Given the description of an element on the screen output the (x, y) to click on. 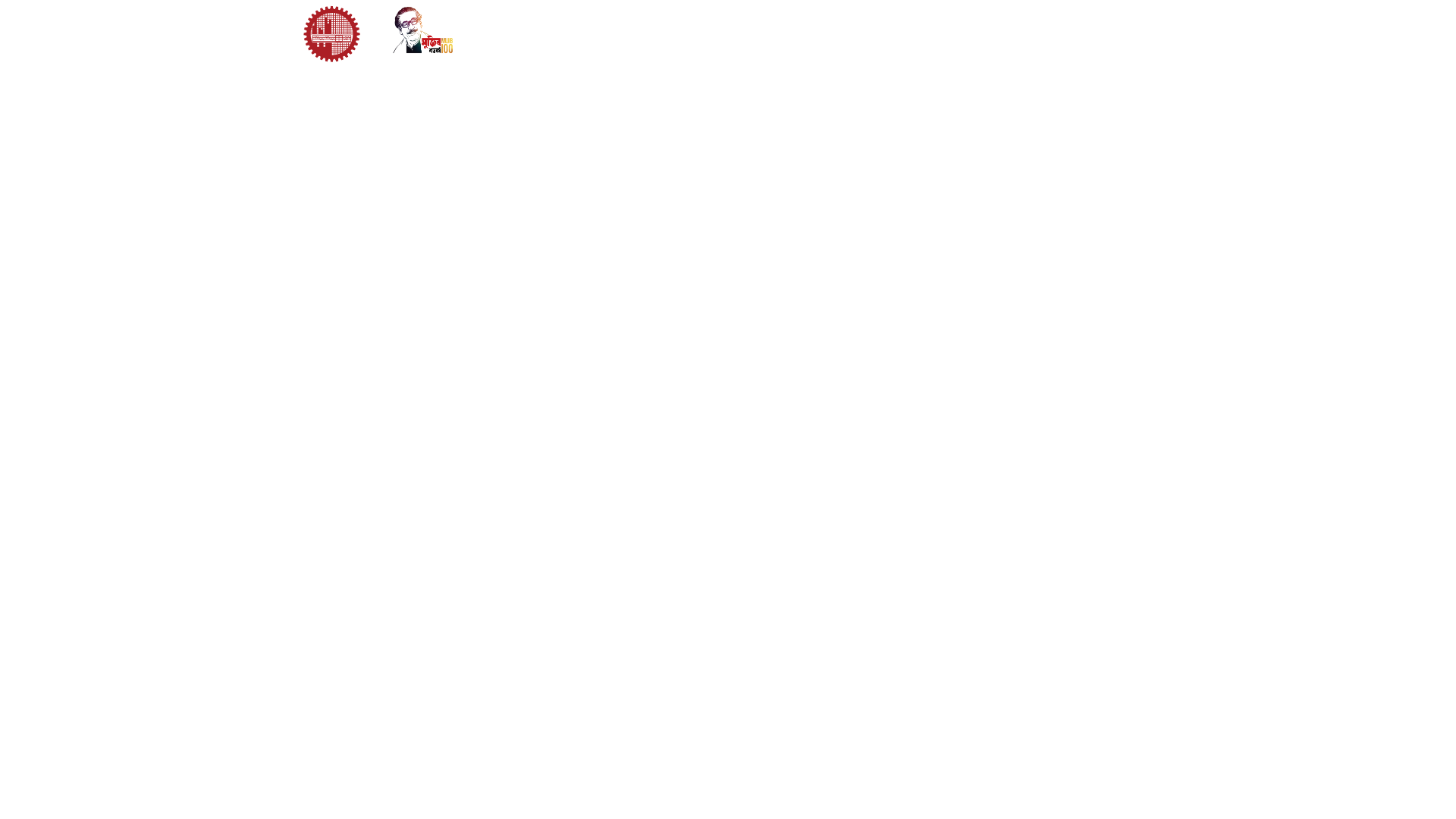
Alumni Element type: text (1010, 57)
Students Element type: text (957, 57)
PG Admission Element type: text (879, 88)
News & Events Element type: text (470, 88)
Research Element type: text (665, 88)
Administration Element type: text (793, 57)
About Element type: text (380, 88)
Search Element type: text (1117, 57)
Home Element type: text (726, 57)
Notices Element type: text (1060, 57)
Academics Element type: text (577, 88)
UG Admission Element type: text (764, 88)
Faculty & Staff Element type: text (883, 57)
Job Application Element type: text (998, 88)
